Given the description of an element on the screen output the (x, y) to click on. 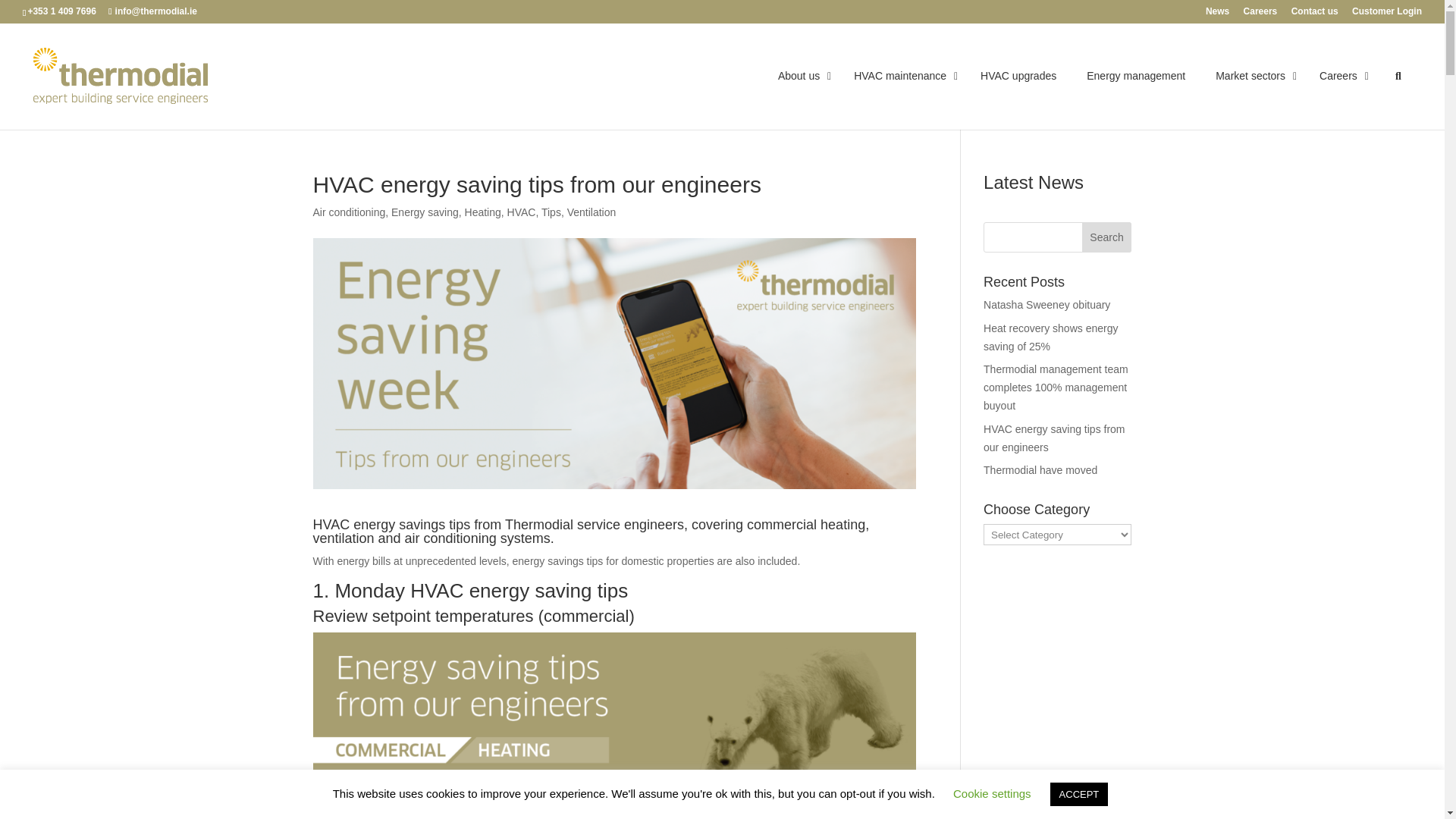
Heating (482, 212)
Energy management (1135, 75)
Air conditioning (349, 212)
Energy saving (424, 212)
Ventilation (591, 212)
HVAC (520, 212)
News (1216, 14)
Contact us (1314, 14)
Search (1106, 236)
Customer Login (1387, 14)
Careers (1260, 14)
HVAC upgrades (1018, 75)
Tips (550, 212)
